Given the description of an element on the screen output the (x, y) to click on. 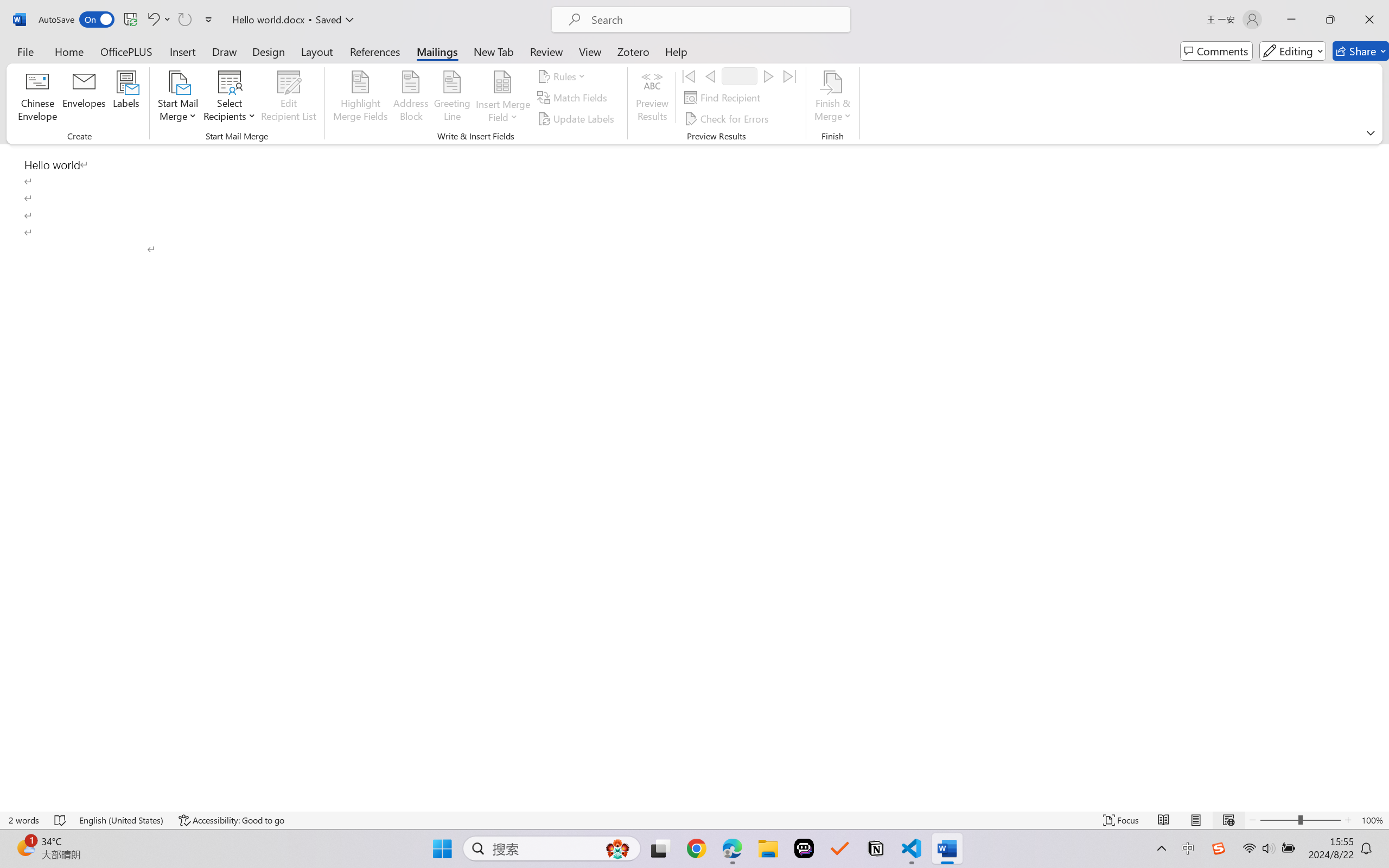
Ribbon Display Options (1370, 132)
Share (1360, 51)
